Given the description of an element on the screen output the (x, y) to click on. 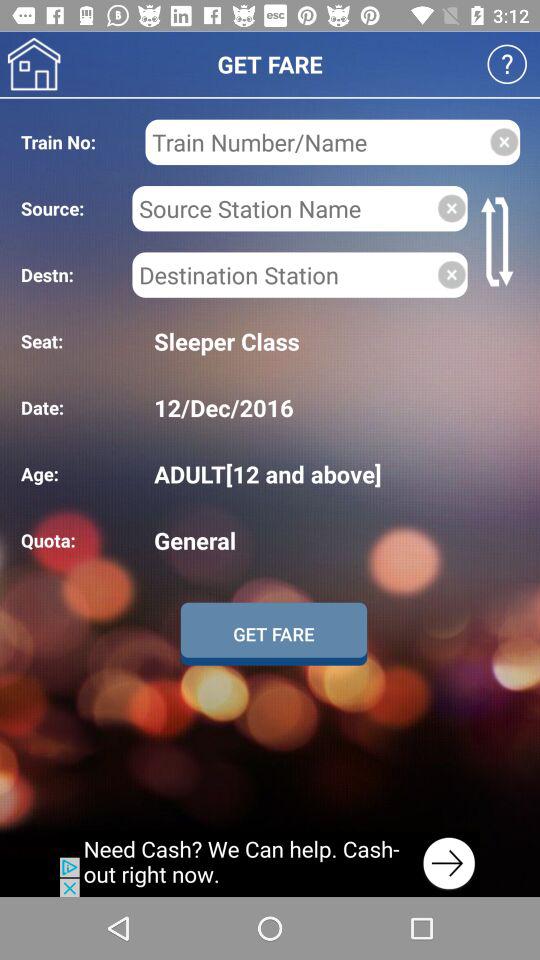
reverse it (500, 241)
